Given the description of an element on the screen output the (x, y) to click on. 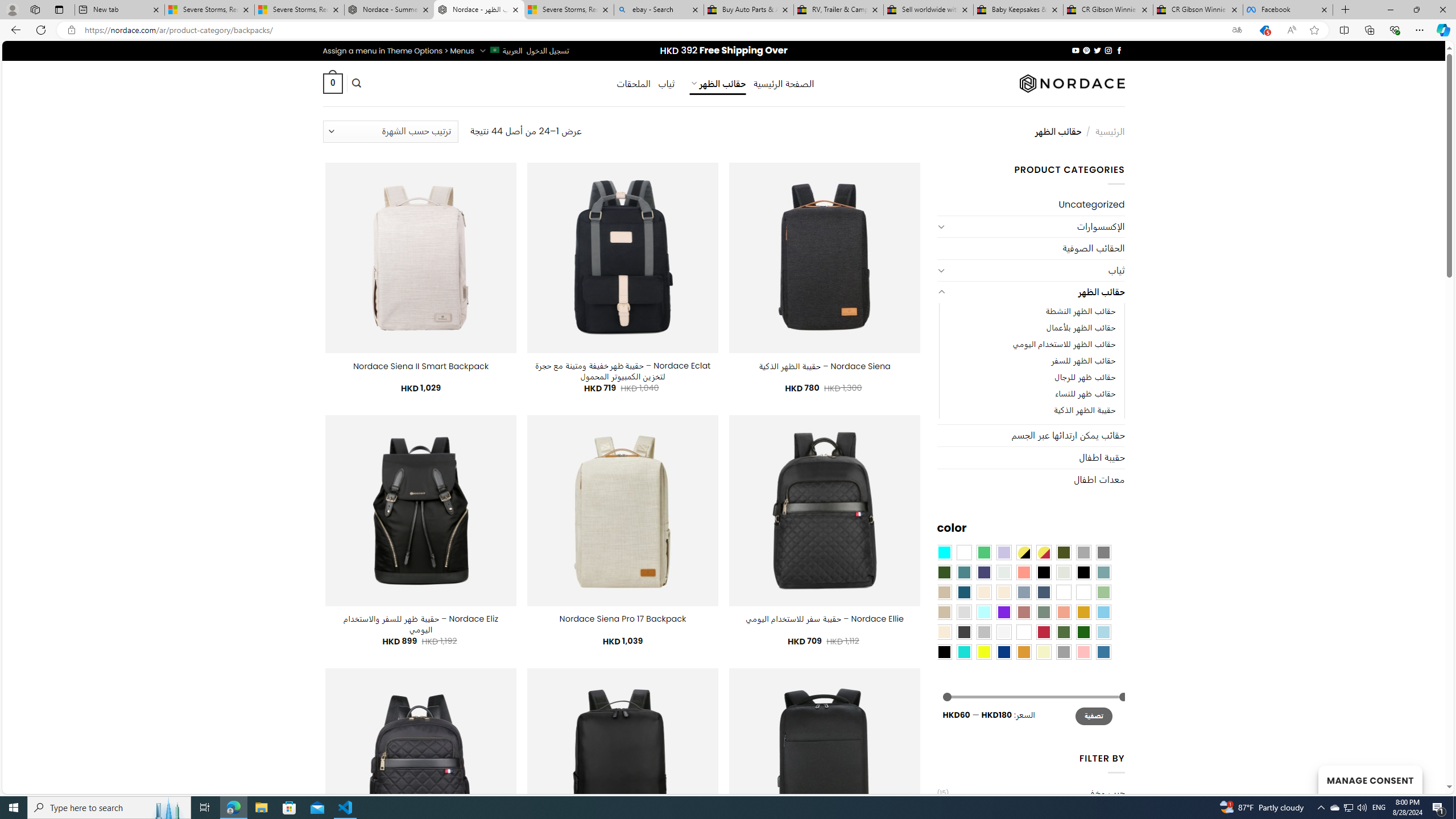
Nordace - Summer Adventures 2024 (389, 9)
Light Green (1103, 591)
Light Taupe (944, 611)
App bar (728, 29)
Nordace Siena II Smart Backpack (420, 365)
